Given the description of an element on the screen output the (x, y) to click on. 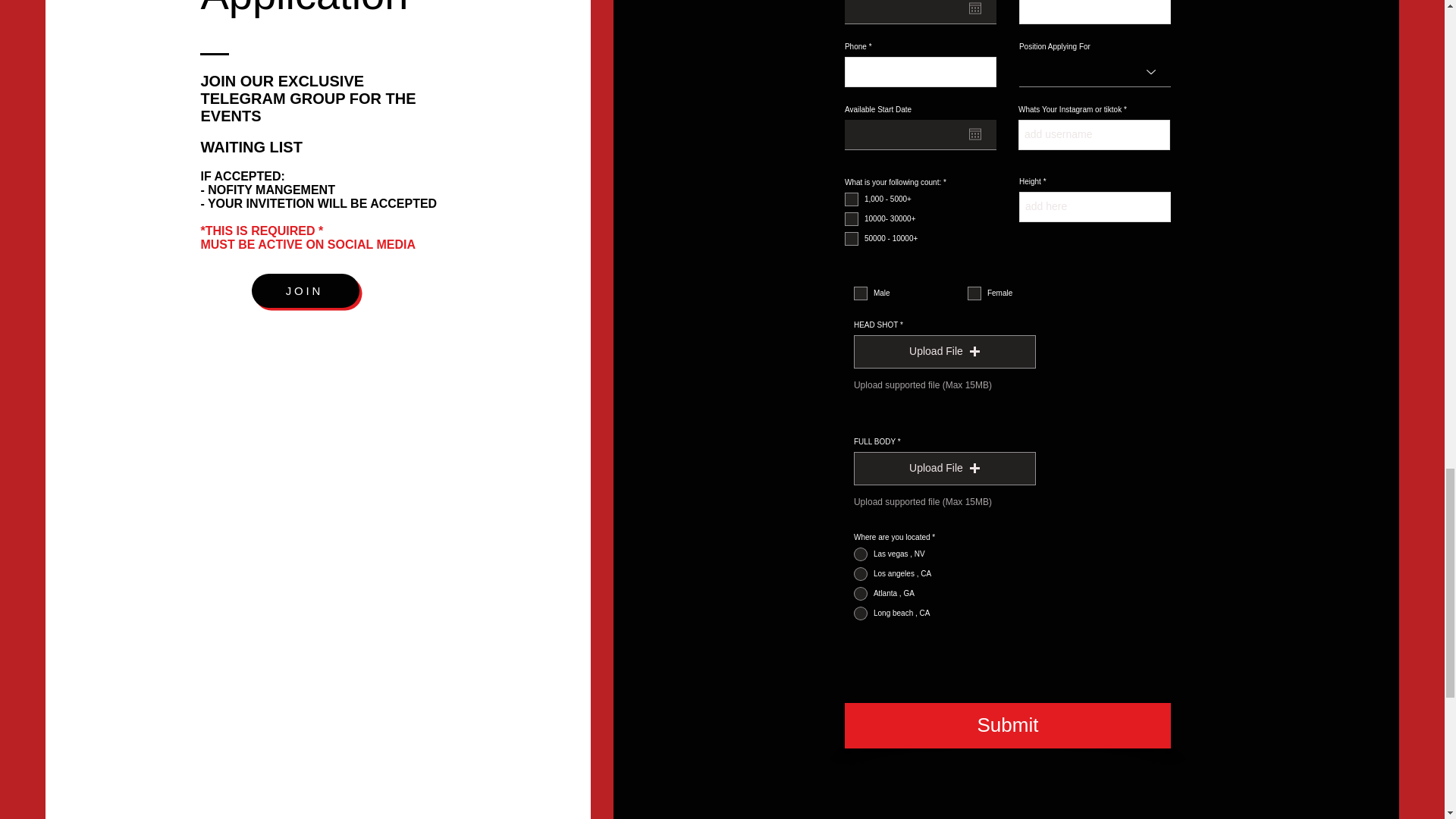
Submit (1007, 724)
JOIN (305, 289)
